Given the description of an element on the screen output the (x, y) to click on. 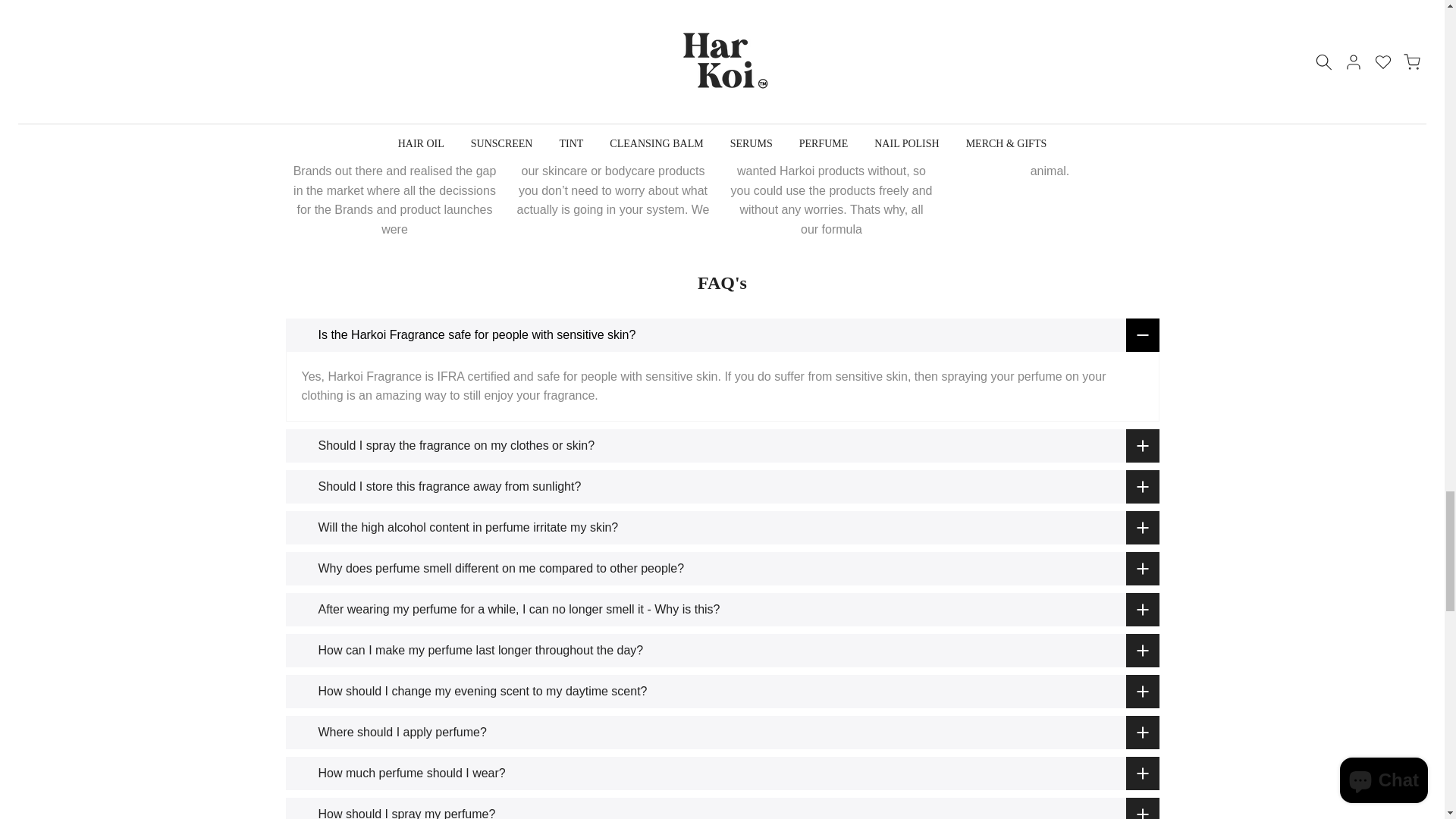
Should I spray the fragrance on my clothes or skin? (721, 445)
Is the Harkoi Fragrance safe for people with sensitive skin? (721, 335)
Should I store this fragrance away from sunlight? (721, 486)
